Given the description of an element on the screen output the (x, y) to click on. 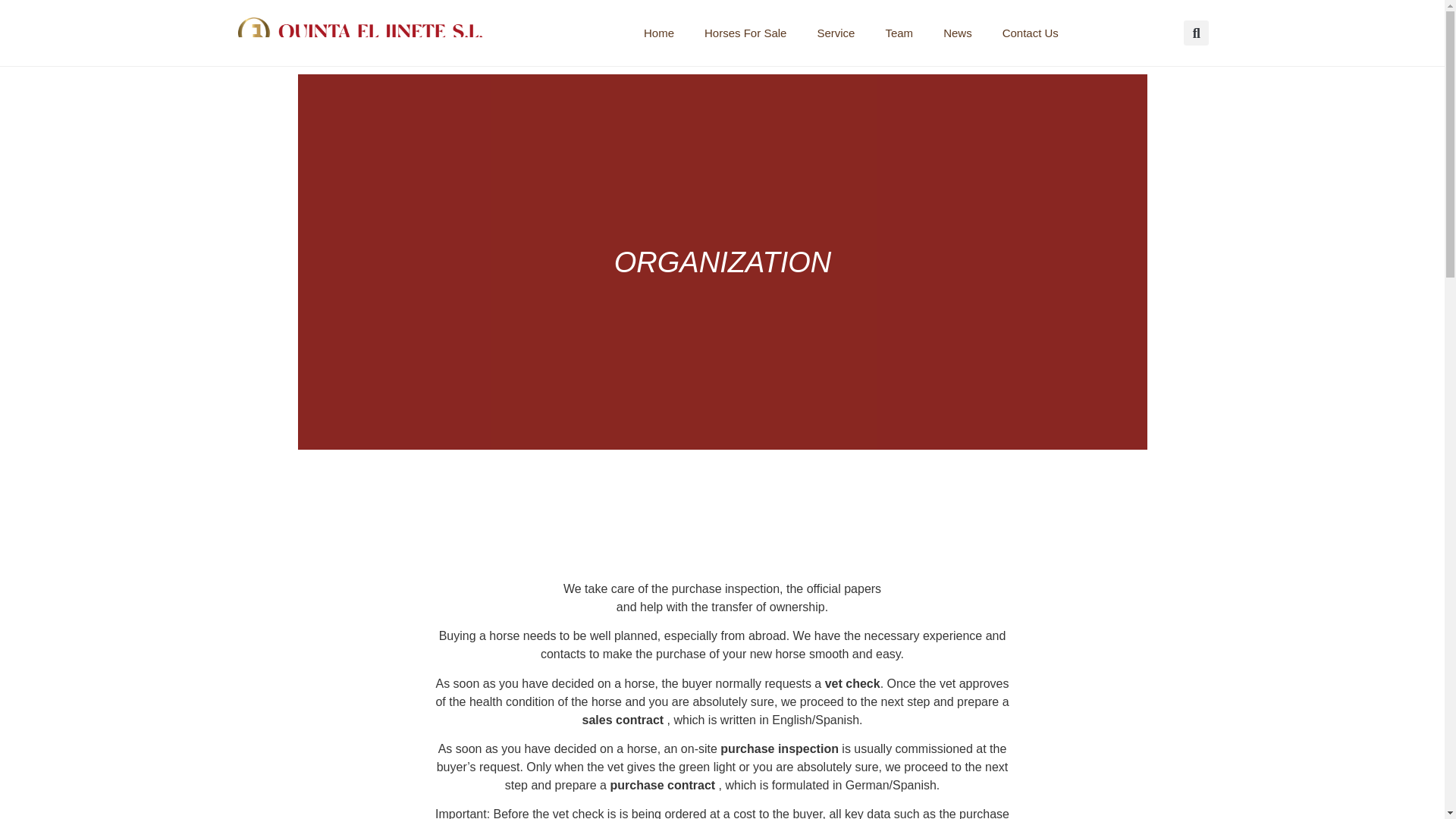
Home (658, 32)
Horses For Sale (745, 32)
News (957, 32)
Team (898, 32)
Contact Us (1030, 32)
Service (835, 32)
